Given the description of an element on the screen output the (x, y) to click on. 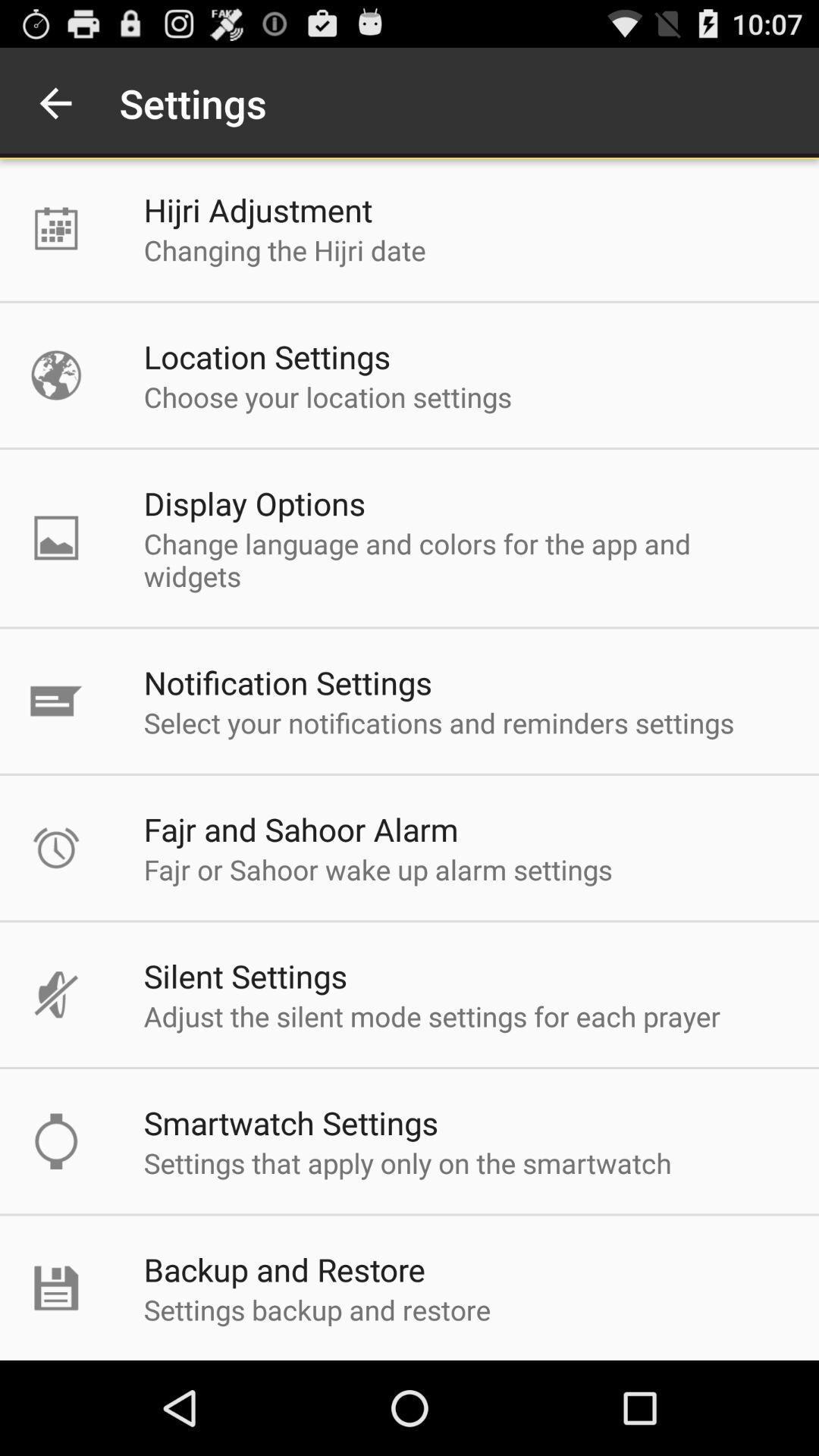
choose item next to the settings app (55, 103)
